Given the description of an element on the screen output the (x, y) to click on. 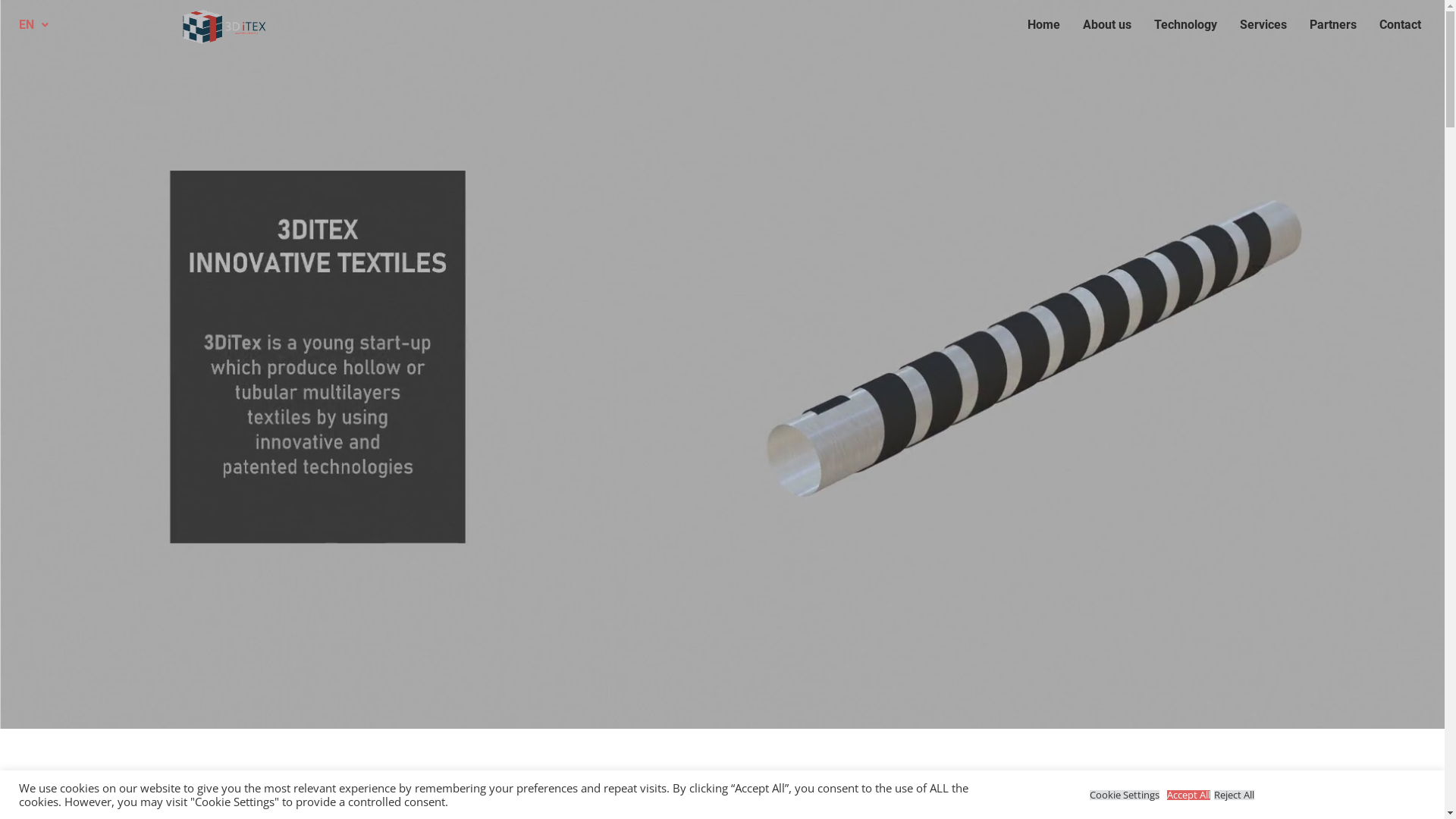
Home Element type: text (1043, 24)
Cookie Settings Element type: text (1124, 795)
About us Element type: text (1106, 24)
Services Element type: text (1263, 24)
Partners Element type: text (1333, 24)
Reject All Element type: text (1234, 795)
Accept All Element type: text (1188, 795)
EN Element type: text (33, 24)
Contact Element type: text (1400, 24)
Technology Element type: text (1185, 24)
